Given the description of an element on the screen output the (x, y) to click on. 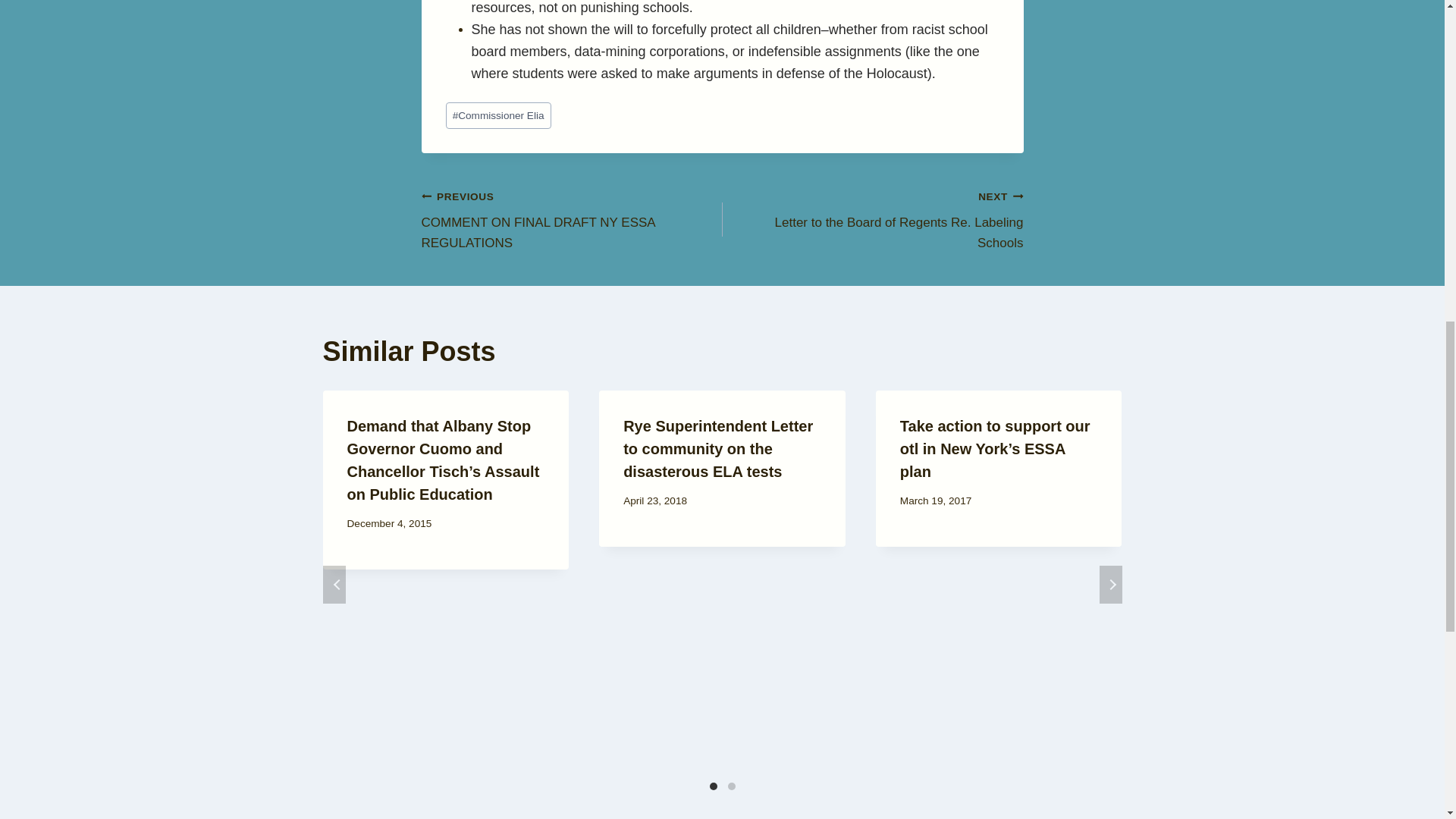
Commissioner Elia (498, 115)
